Given the description of an element on the screen output the (x, y) to click on. 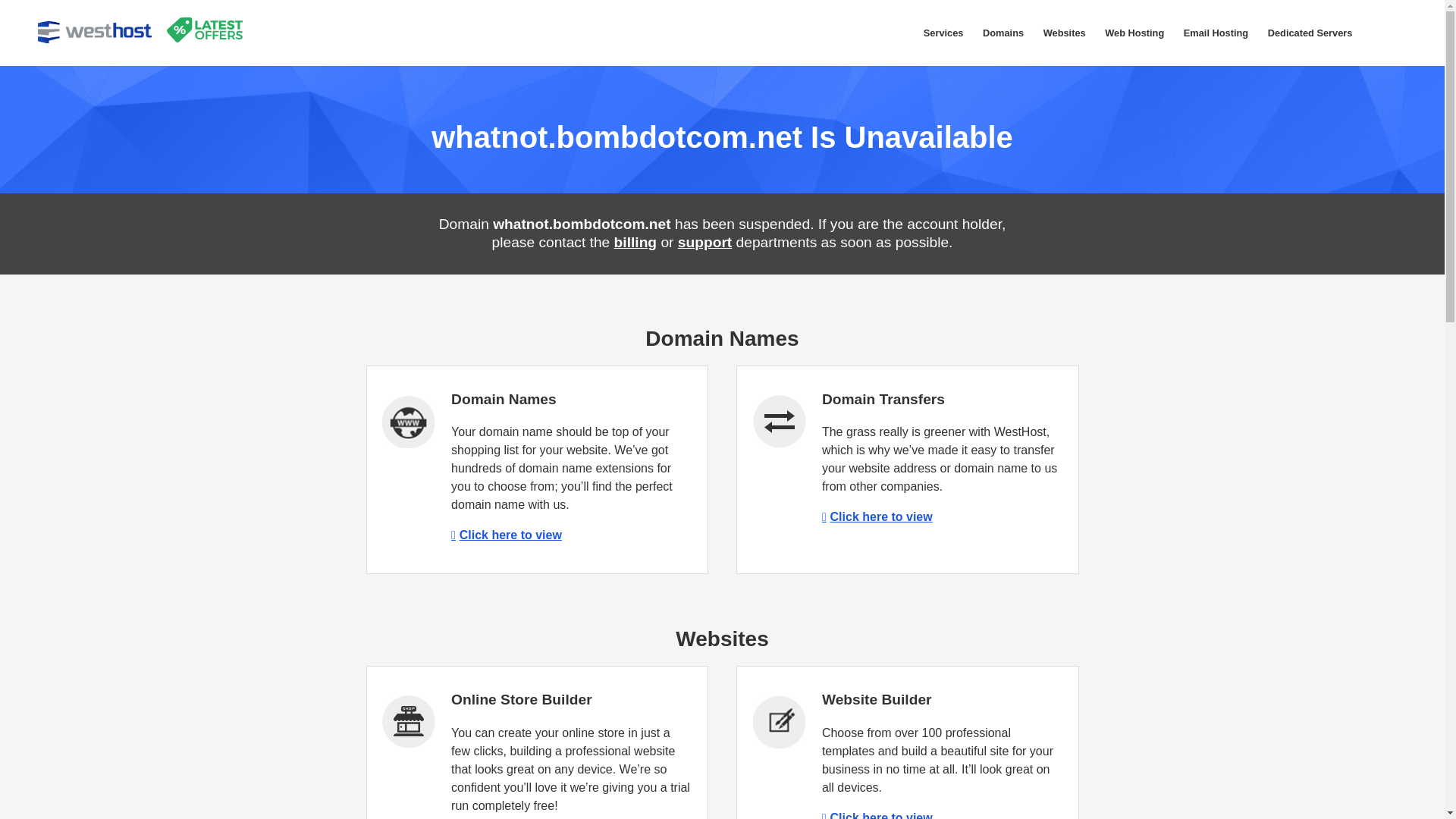
Dedicated Servers (1309, 32)
Websites (1064, 32)
Email Hosting (1215, 32)
Web Hosting (1133, 32)
Click here to view (877, 815)
Click here to view (506, 534)
Click here to view (877, 516)
Domains (1002, 32)
support (705, 242)
Services (943, 32)
billing (636, 242)
